Given the description of an element on the screen output the (x, y) to click on. 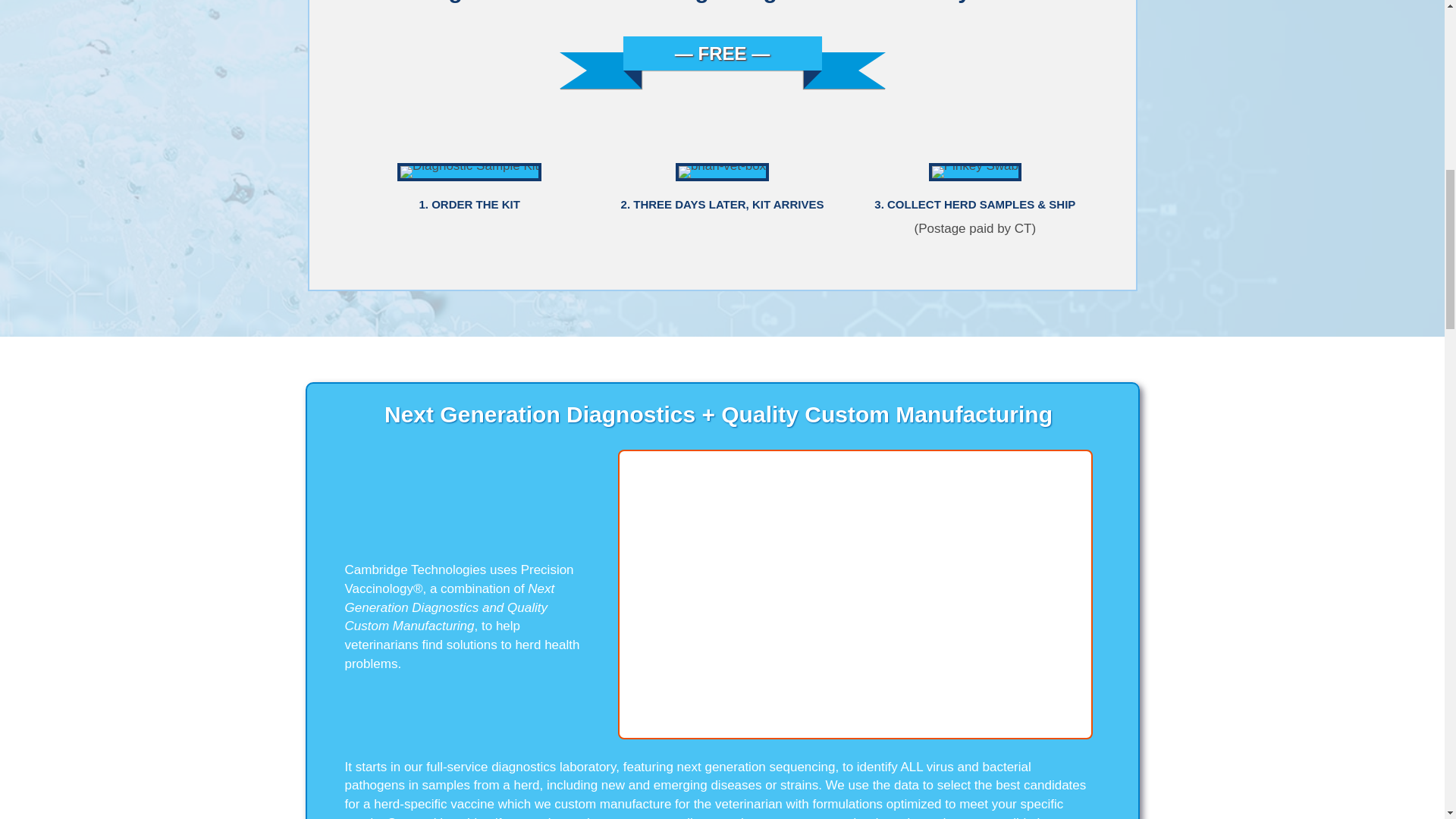
pinkeye swab 500x333 (974, 172)
brian-vet-box (721, 172)
samplekitcontents (469, 172)
